Given the description of an element on the screen output the (x, y) to click on. 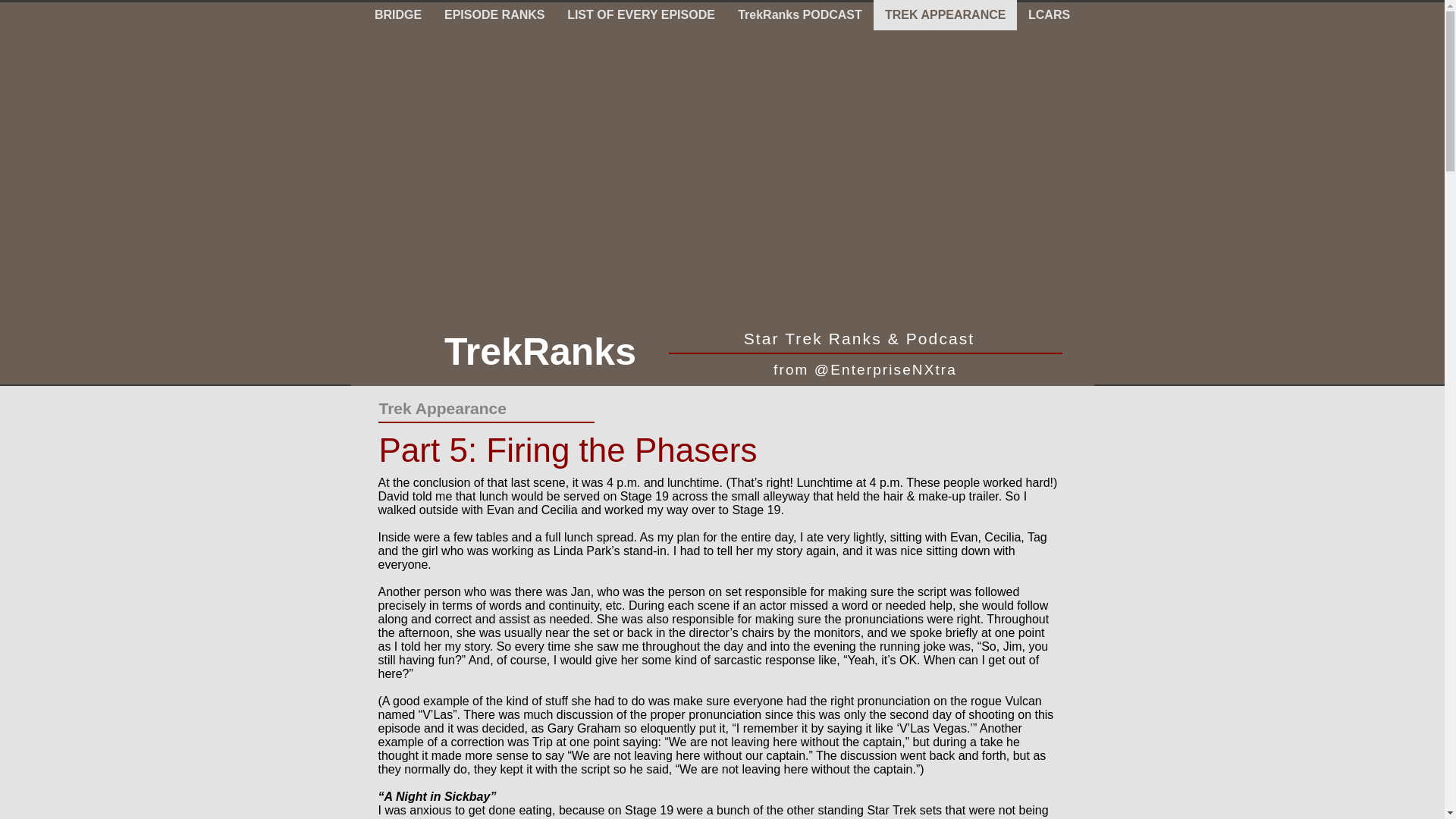
BRIDGE (397, 15)
TrekRanks (540, 351)
EPISODE RANKS (494, 15)
LIST OF EVERY EPISODE (641, 15)
TREK APPEARANCE (944, 15)
TrekRanks PODCAST (799, 15)
Trek Appearance (442, 407)
